Given the description of an element on the screen output the (x, y) to click on. 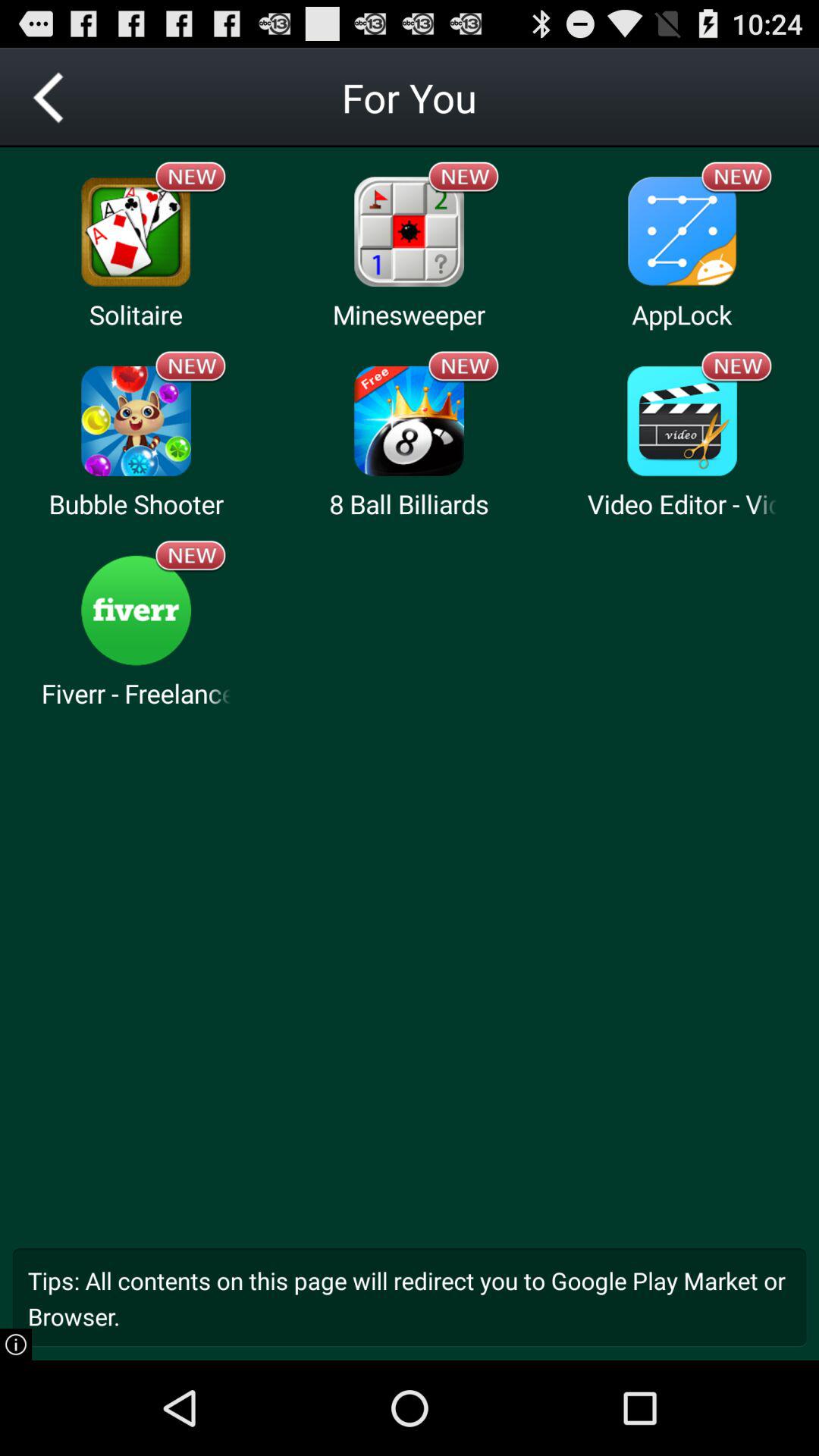
open the icon below bubble shooter (136, 610)
